Given the description of an element on the screen output the (x, y) to click on. 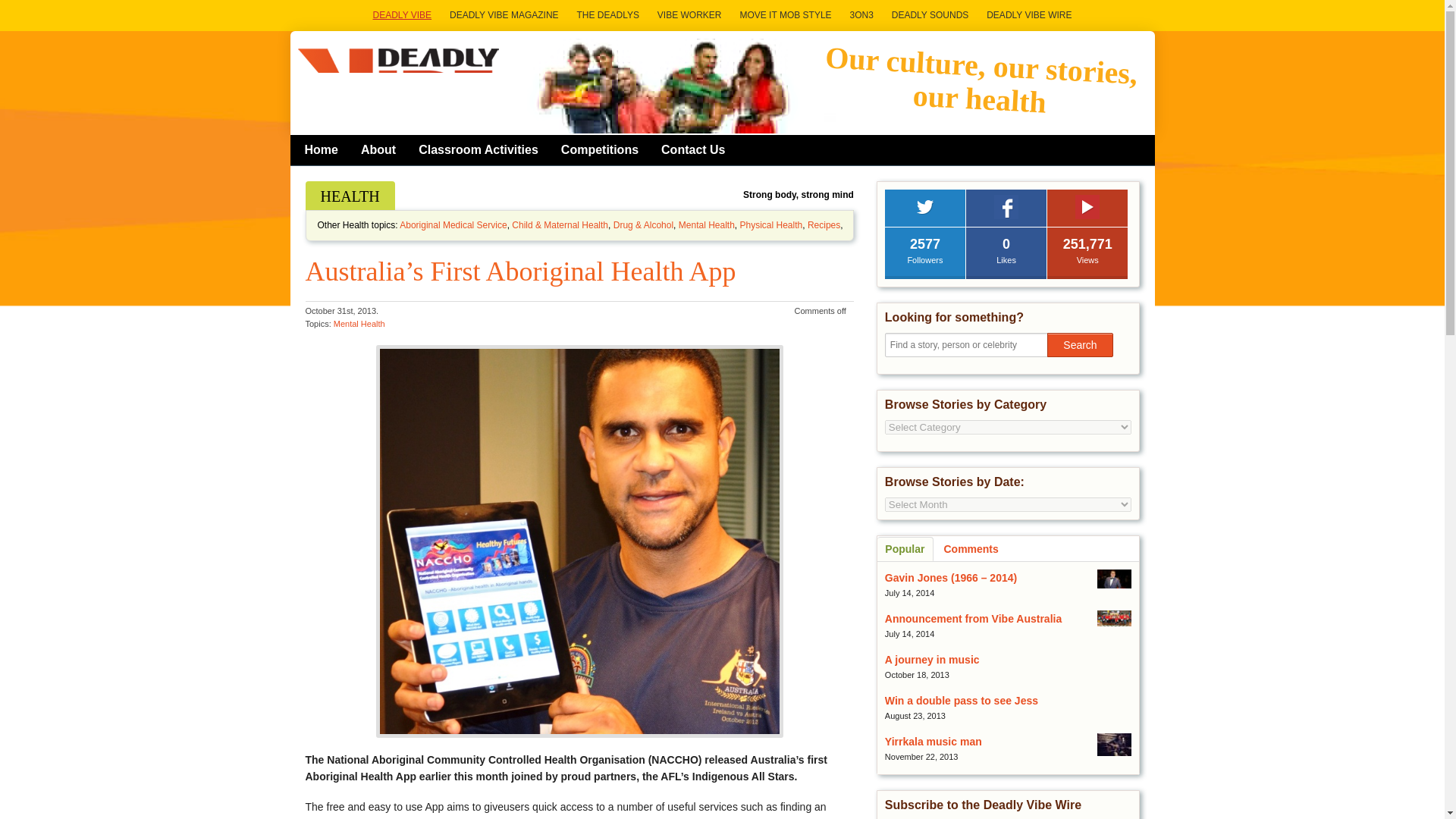
Deadly Vibe (398, 80)
DEADLY SOUNDS (929, 15)
About (378, 149)
Home (321, 149)
Recipes (824, 225)
Physical Health (771, 225)
MOVE IT MOB STYLE (785, 15)
Announcement from Vibe Australia (973, 618)
Win a double pass to see Jess (961, 700)
THE DEADLYS (607, 15)
